Given the description of an element on the screen output the (x, y) to click on. 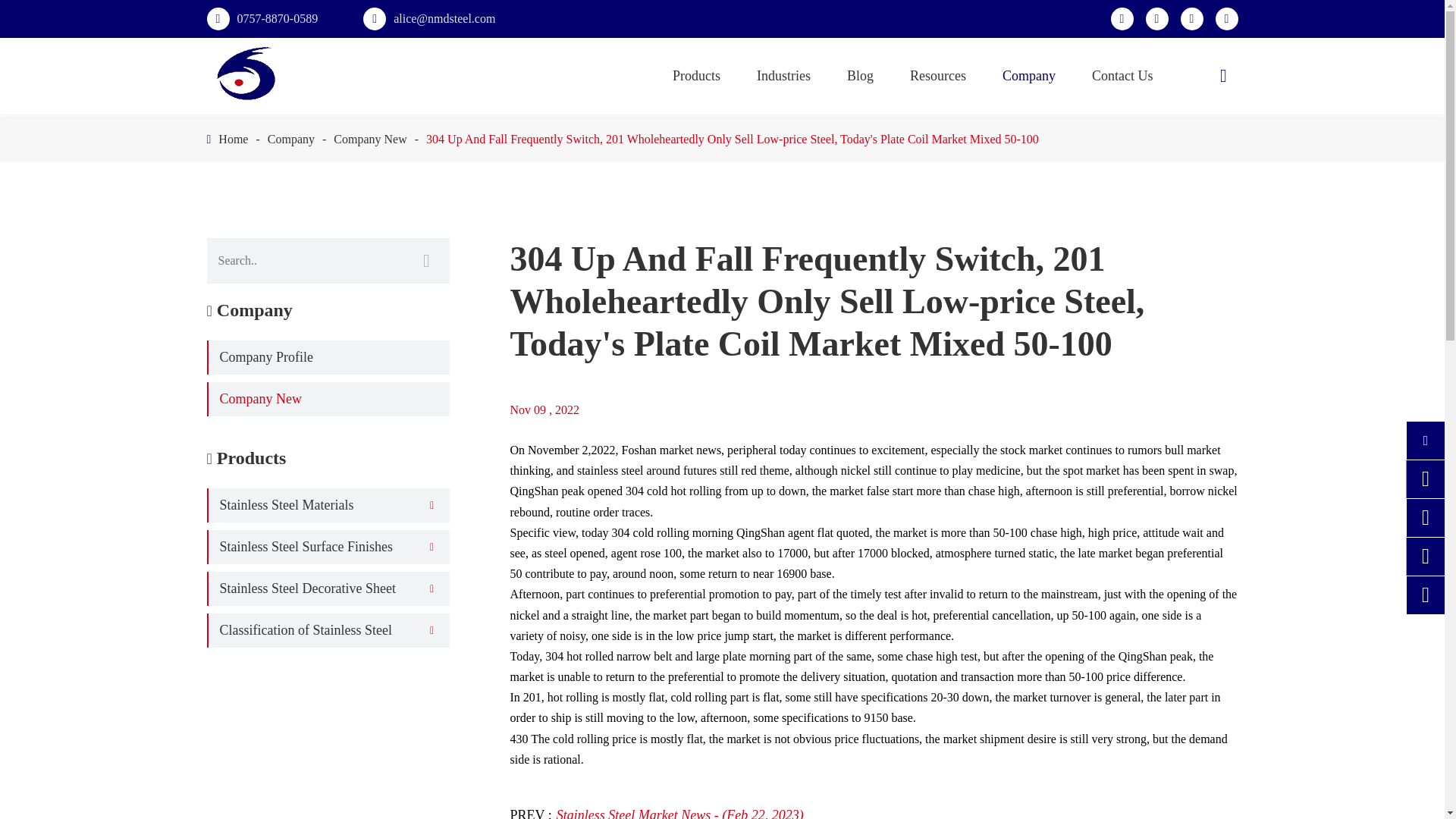
0757-8870-0589 (276, 18)
Company New (369, 138)
Company (290, 138)
Normandy Metal Industry Co., Ltd. (246, 74)
